Given the description of an element on the screen output the (x, y) to click on. 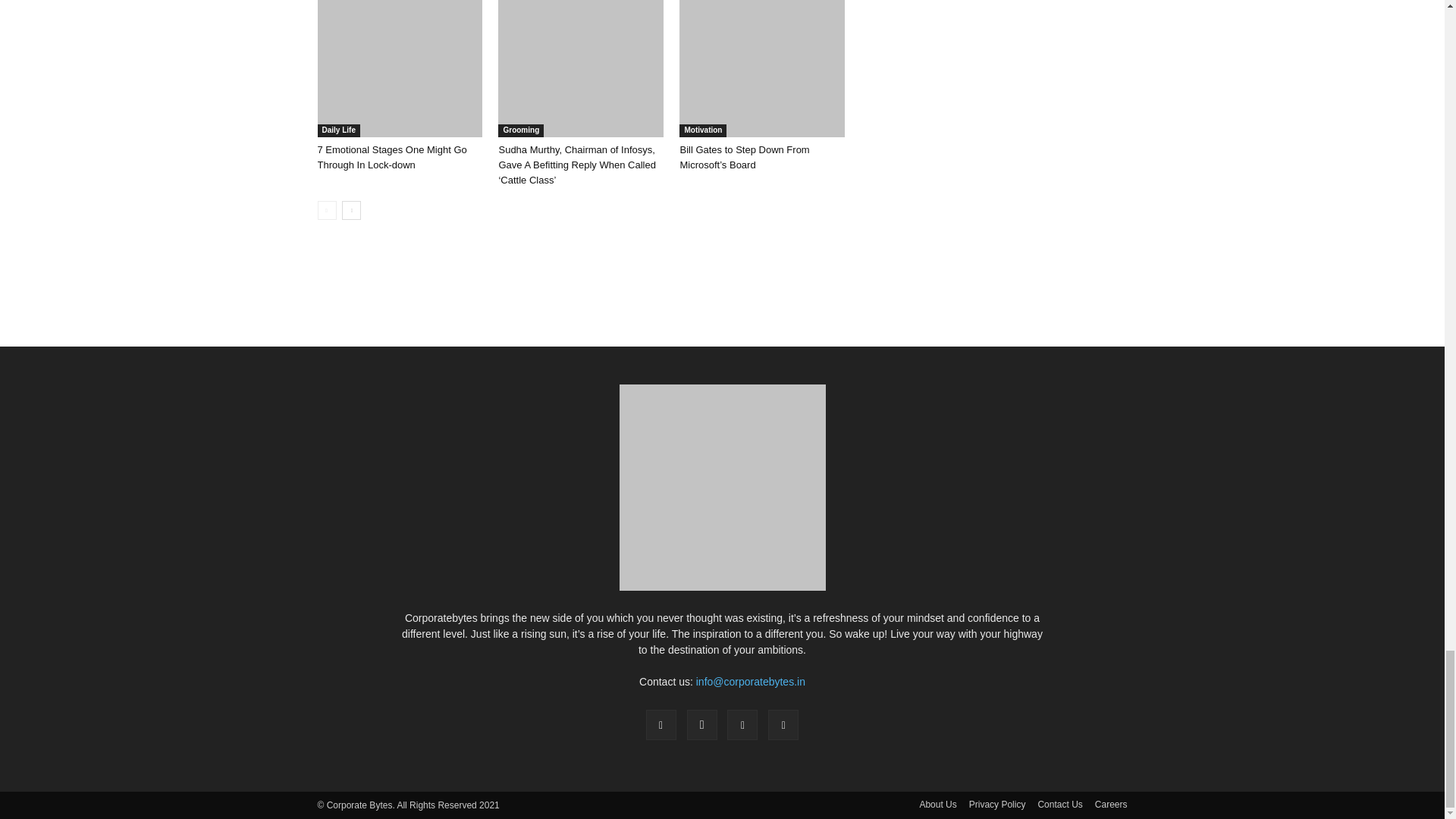
7 Emotional Stages One Might Go Through In Lock-down (399, 68)
